Given the description of an element on the screen output the (x, y) to click on. 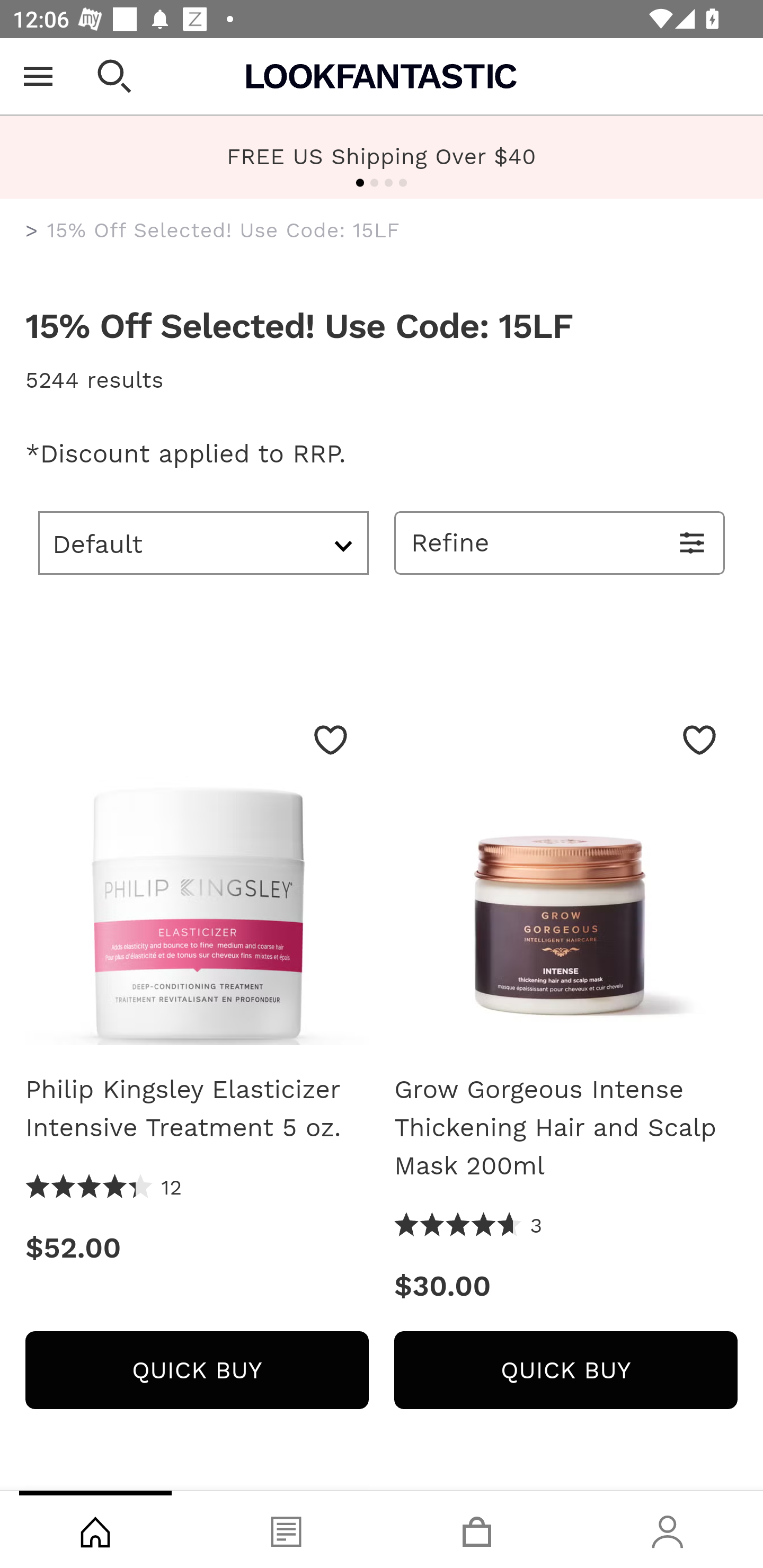
Open Menu (38, 75)
Open search (114, 75)
Lookfantastic USA (381, 75)
FREE US Shipping Over $40 (381, 157)
FREE US Shipping Over $40 (381, 155)
us.lookfantastic (32, 230)
Default (203, 542)
Refine (559, 542)
Save to Wishlist (330, 740)
Save to Wishlist (698, 740)
4.33 Stars 12 Reviews (104, 1187)
4.67 Stars 3 Reviews (468, 1225)
Price: $52.00 (196, 1247)
Price: $30.00 (565, 1286)
Shop, tab, 1 of 4 (95, 1529)
Blog, tab, 2 of 4 (285, 1529)
Basket, tab, 3 of 4 (476, 1529)
Account, tab, 4 of 4 (667, 1529)
